Given the description of an element on the screen output the (x, y) to click on. 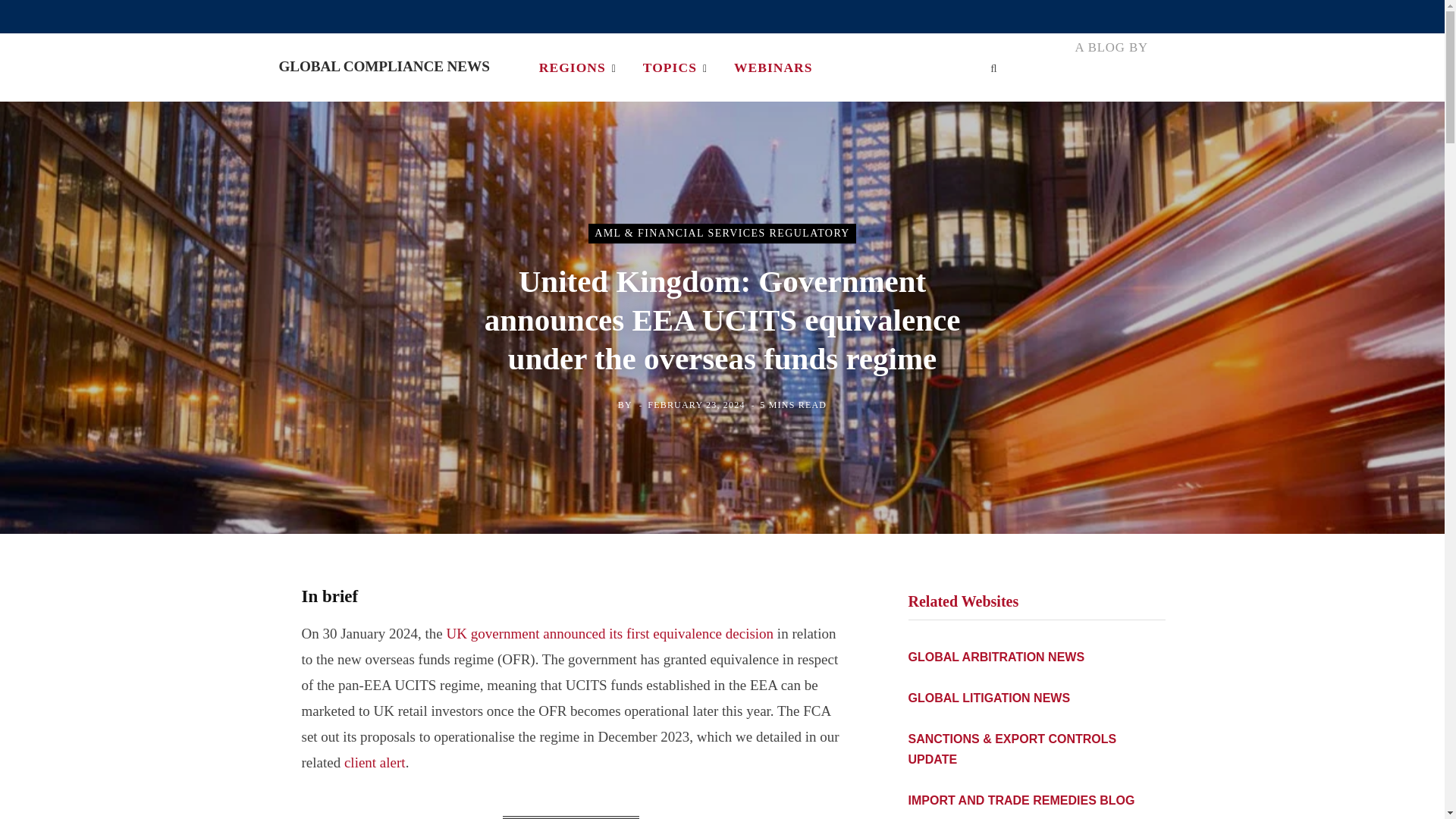
REGIONS (577, 67)
GLOBAL COMPLIANCE NEWS (384, 66)
Global Compliance News (384, 66)
